Given the description of an element on the screen output the (x, y) to click on. 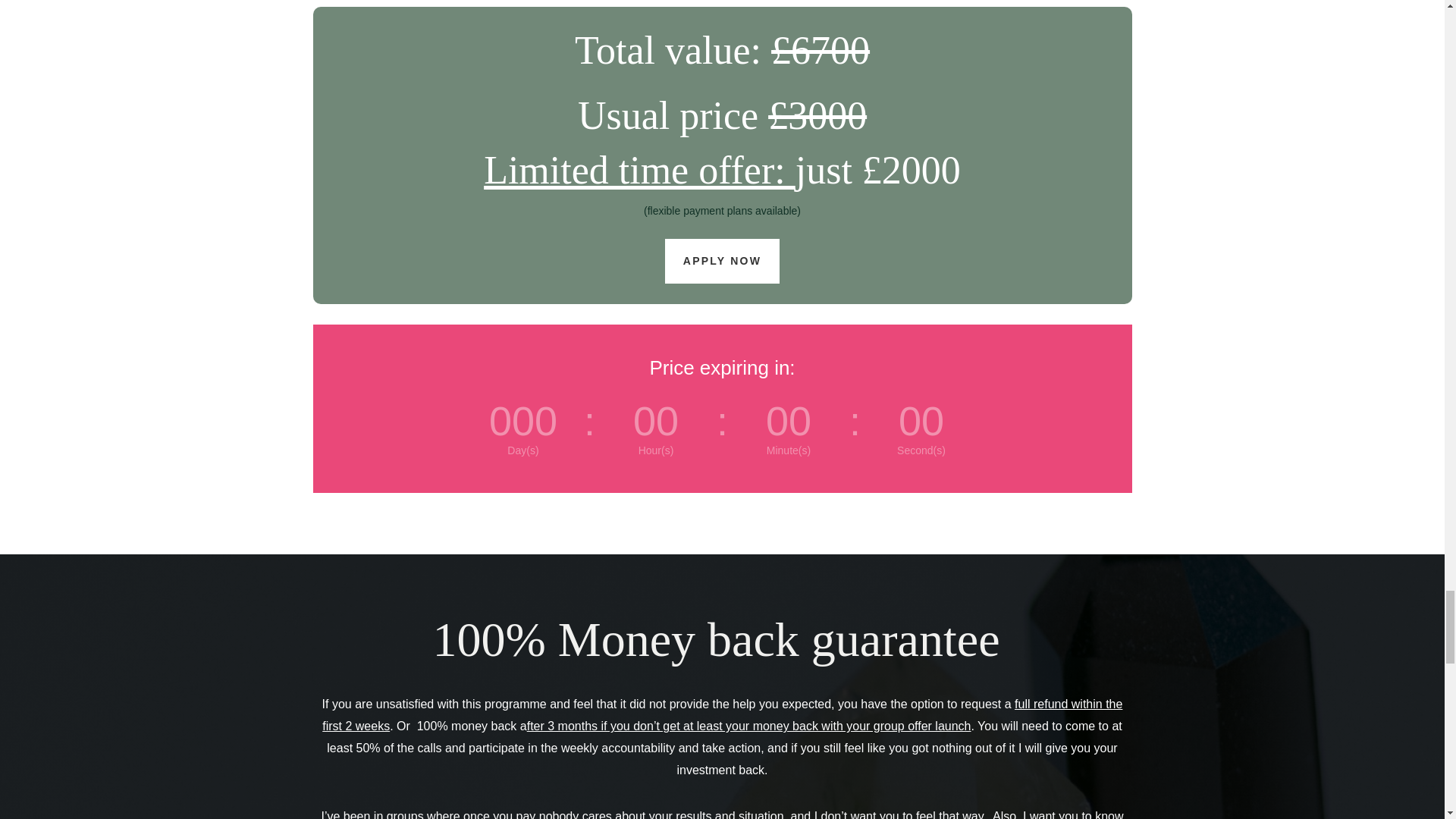
APPLY NOW (721, 261)
